Given the description of an element on the screen output the (x, y) to click on. 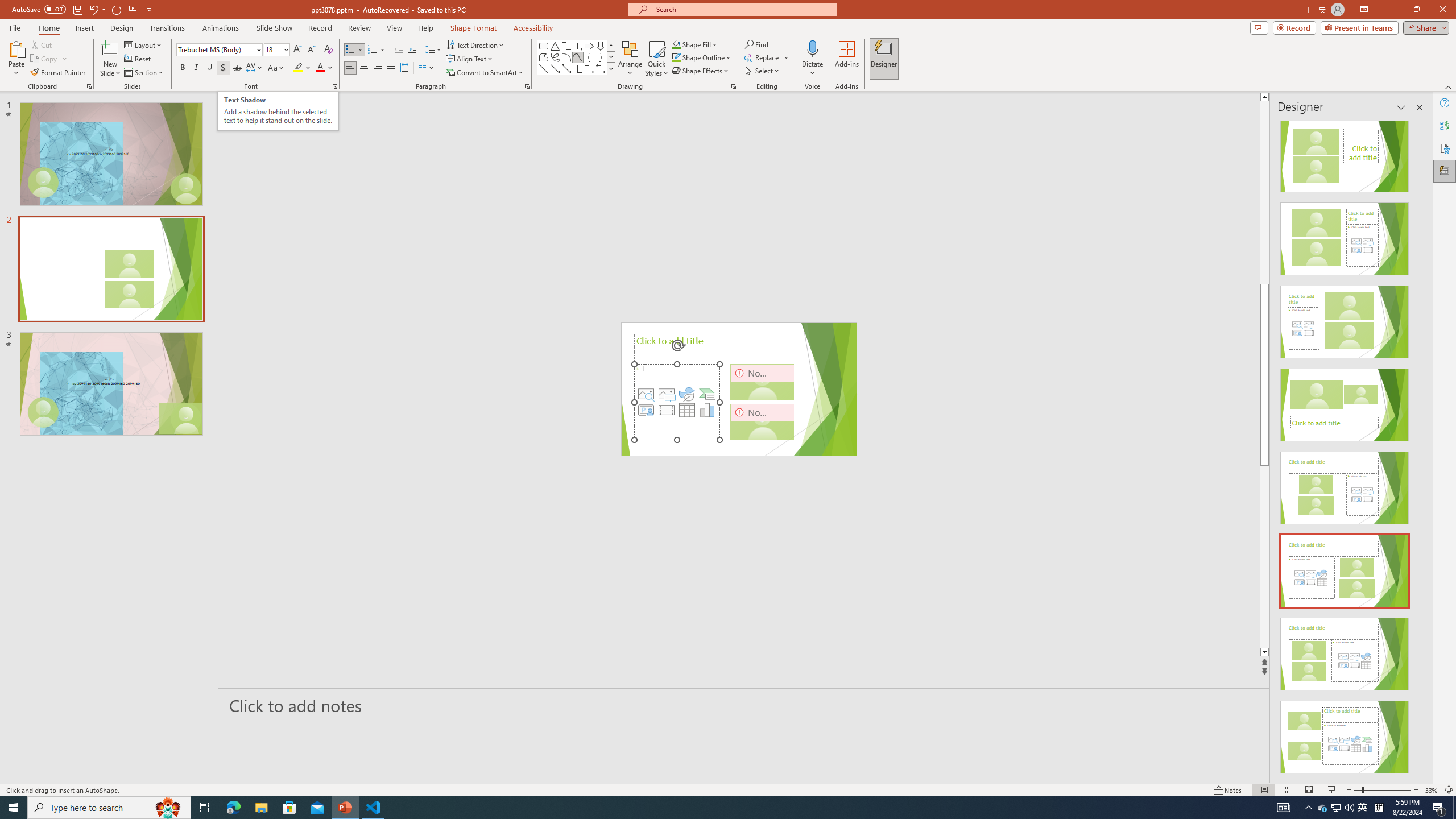
Connector: Elbow Double-Arrow (600, 68)
Insert Chart (707, 409)
